Given the description of an element on the screen output the (x, y) to click on. 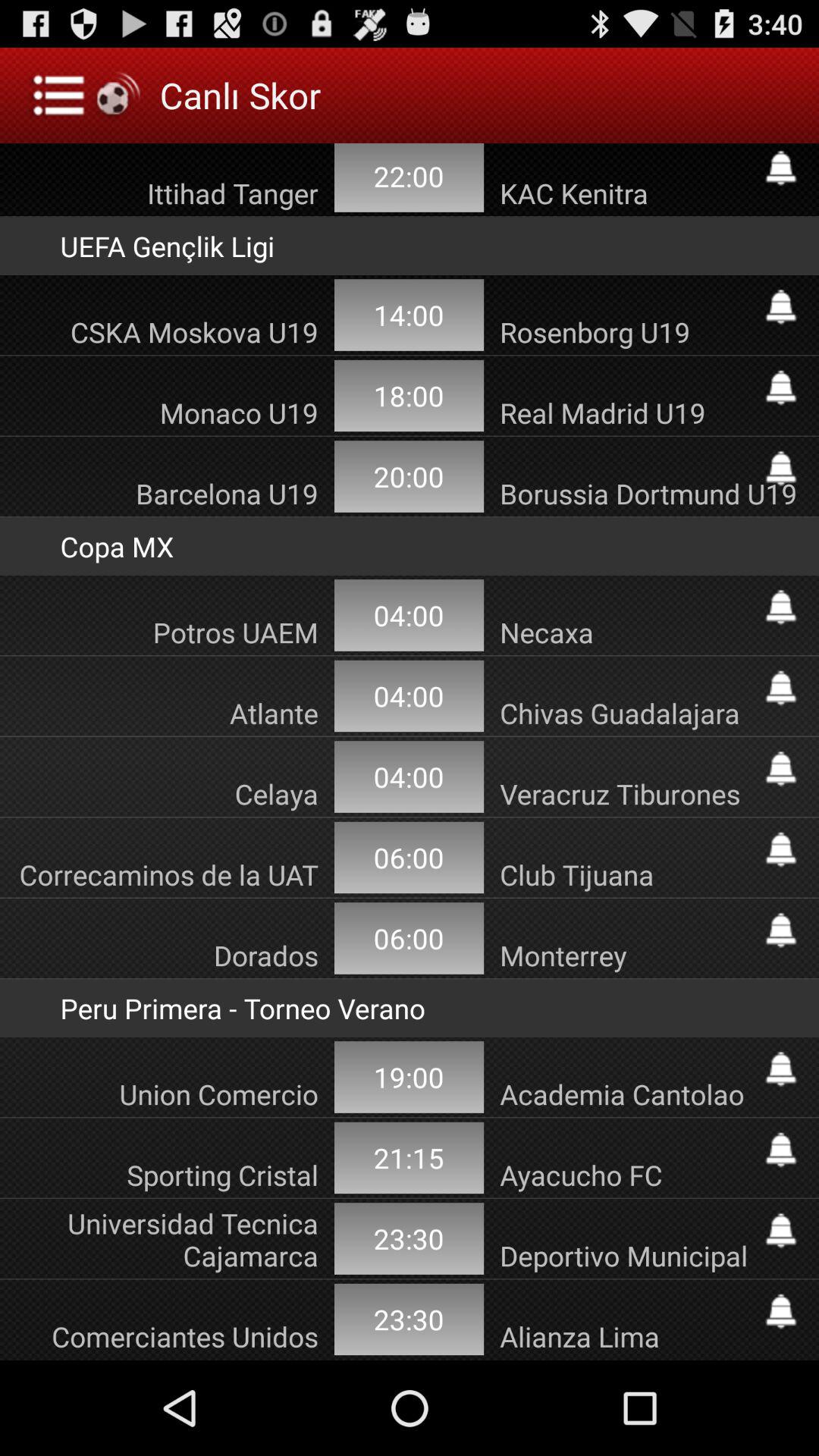
turn on the alarm for this event (780, 768)
